Given the description of an element on the screen output the (x, y) to click on. 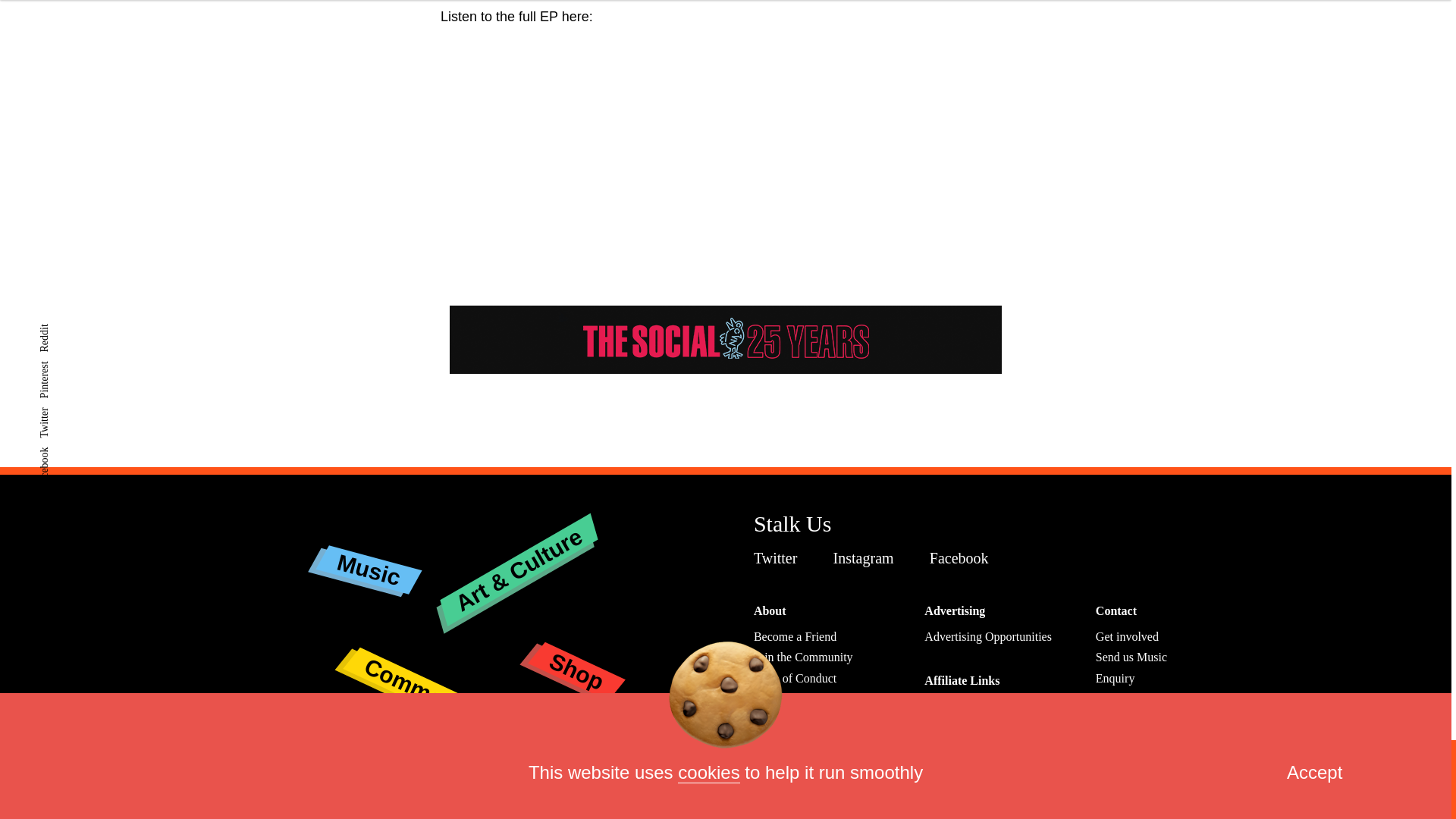
Instagram (866, 558)
Commentary (431, 659)
Get involved (1127, 635)
Shop (575, 653)
Send us Music (1131, 656)
Contact (1116, 610)
Music (366, 558)
Enquiry (1115, 677)
Facebook (962, 558)
Twitter (779, 558)
